Given the description of an element on the screen output the (x, y) to click on. 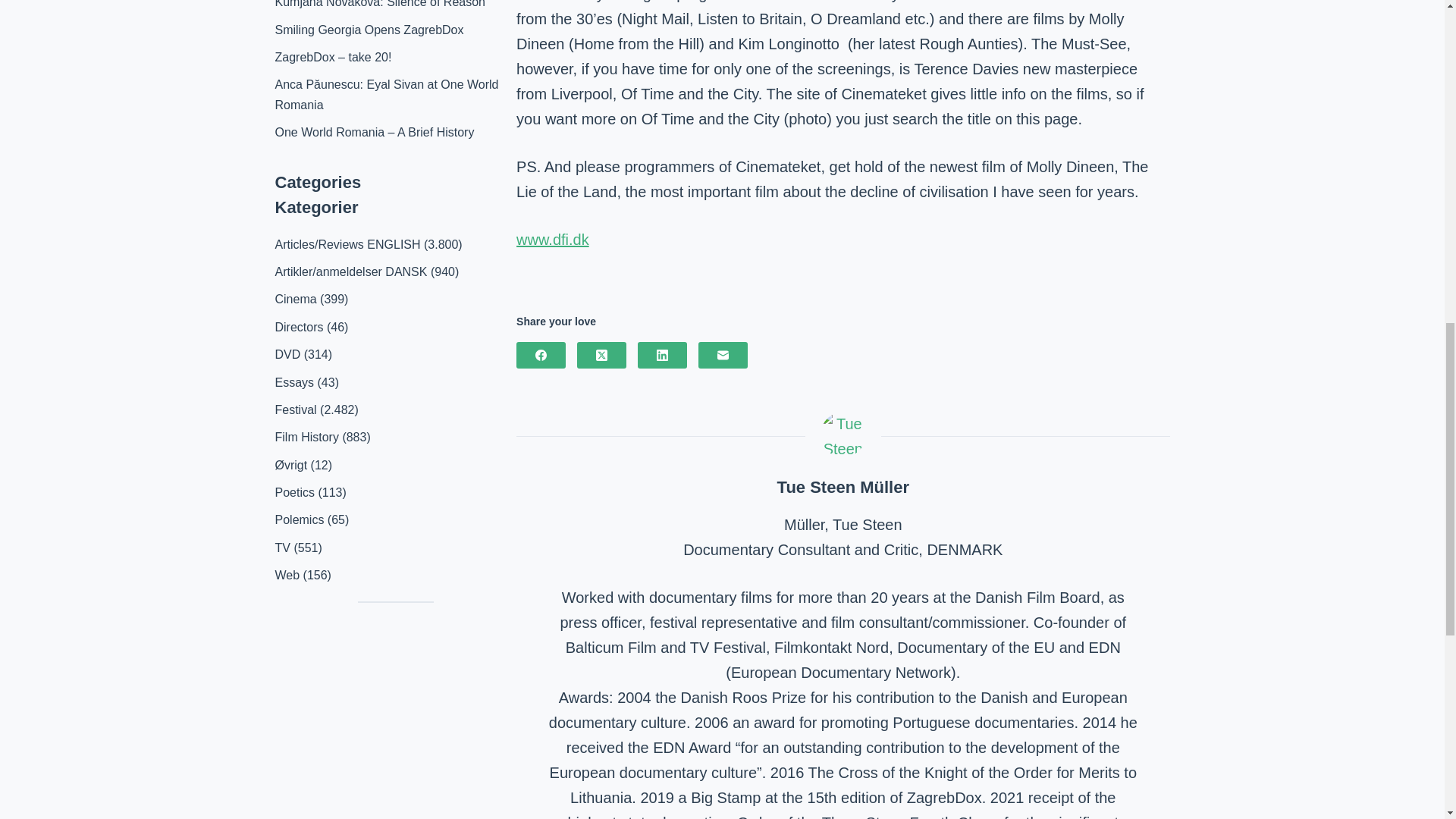
www.dfi.dk (552, 239)
